Given the description of an element on the screen output the (x, y) to click on. 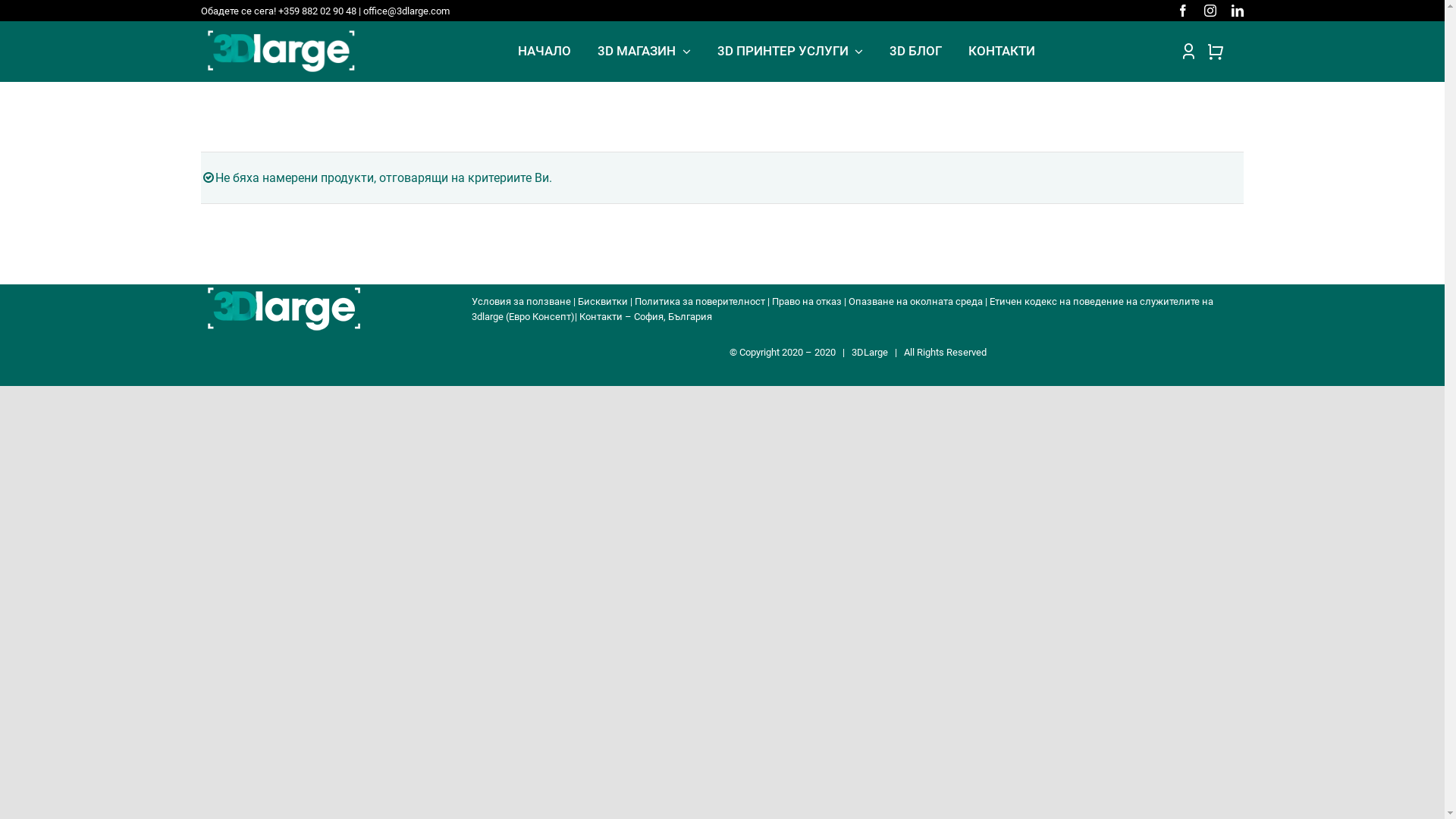
office@3dlarge.com Element type: text (406, 9)
3d_large_print_logo_mobile-retinamobile Element type: hover (283, 309)
